Given the description of an element on the screen output the (x, y) to click on. 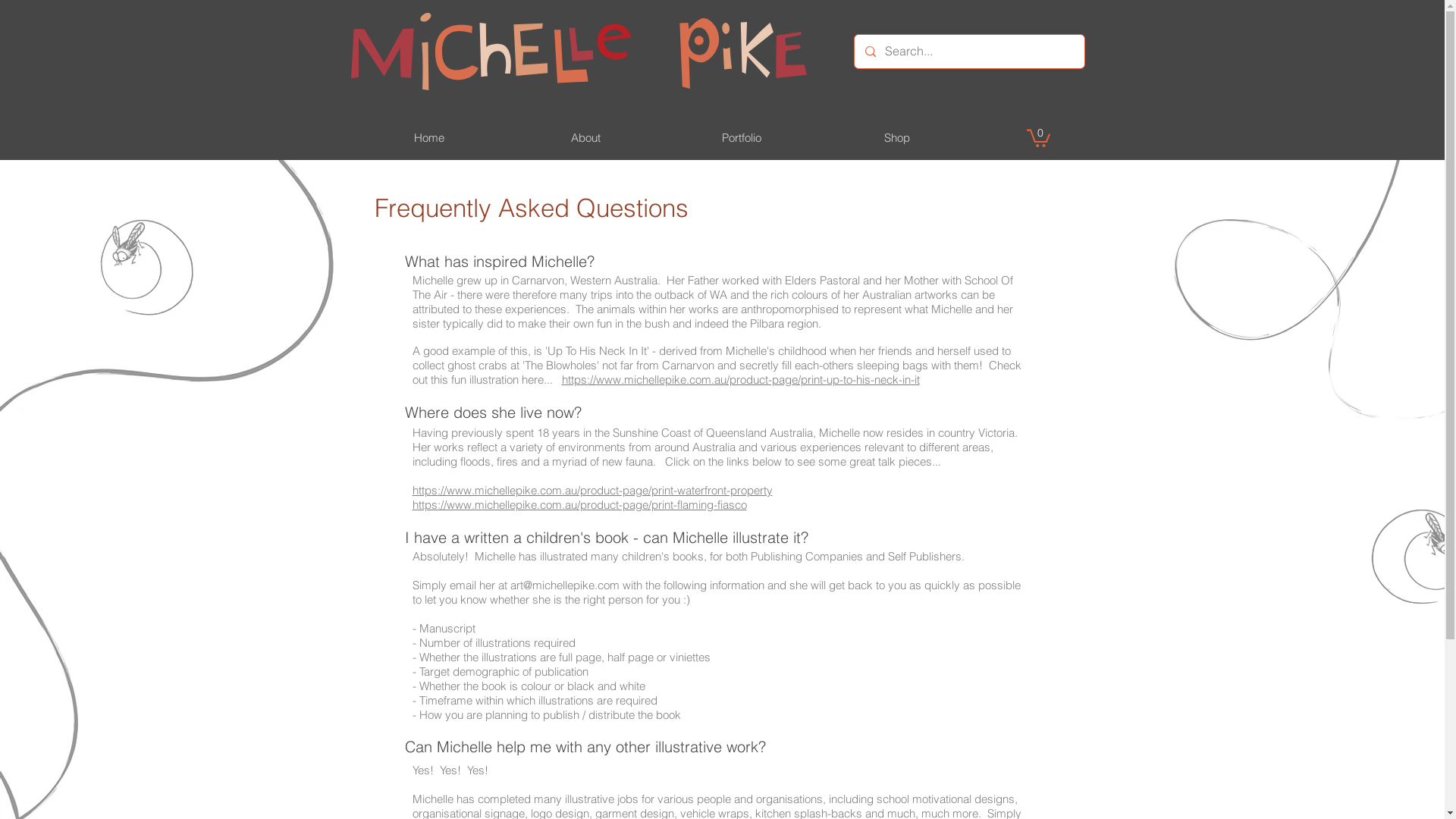
Home Element type: text (428, 137)
Embedded Content Element type: hover (1069, 21)
art@michellepike.com Element type: text (563, 584)
0 Element type: text (1038, 137)
